Given the description of an element on the screen output the (x, y) to click on. 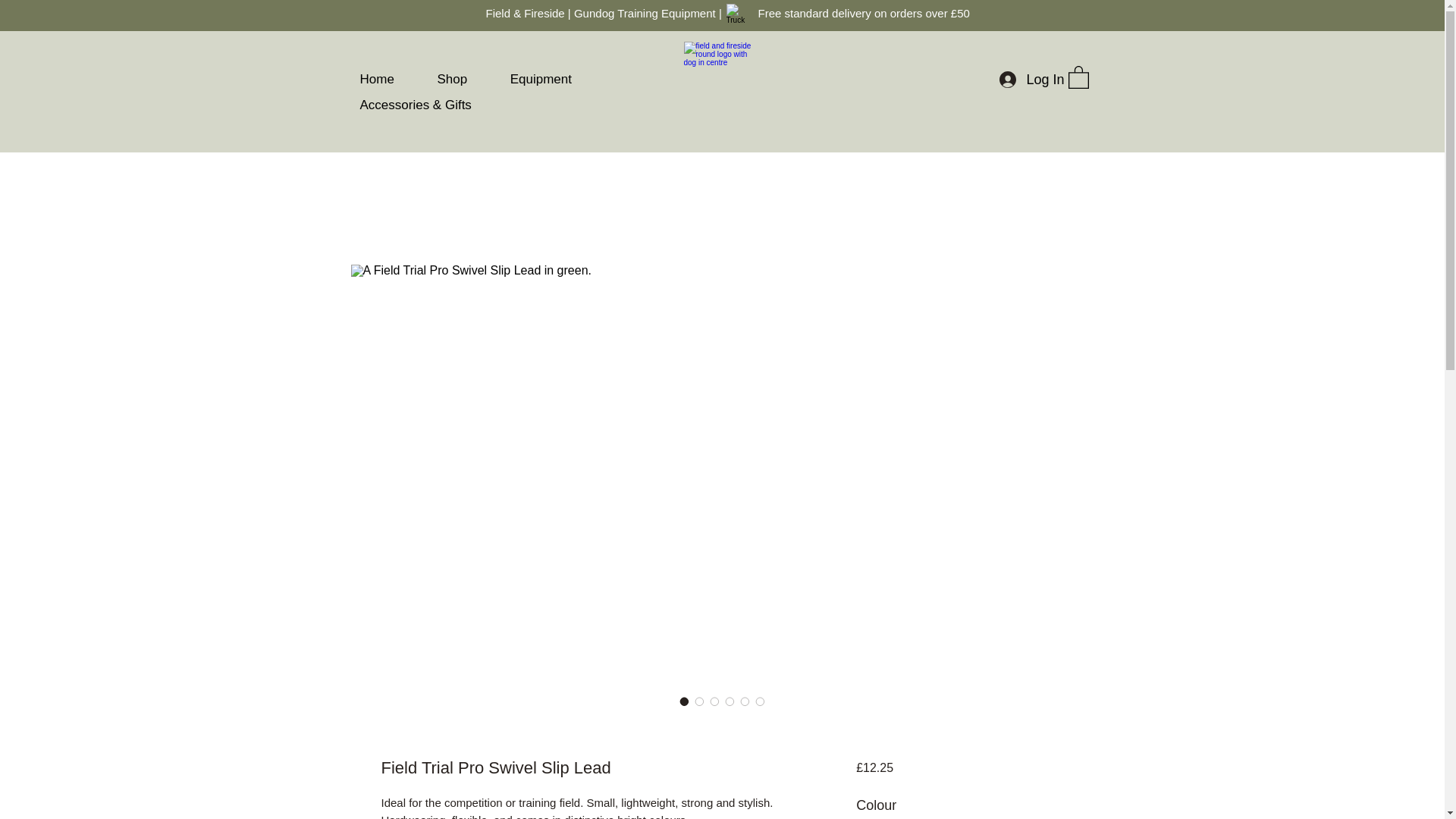
Home (395, 79)
